Given the description of an element on the screen output the (x, y) to click on. 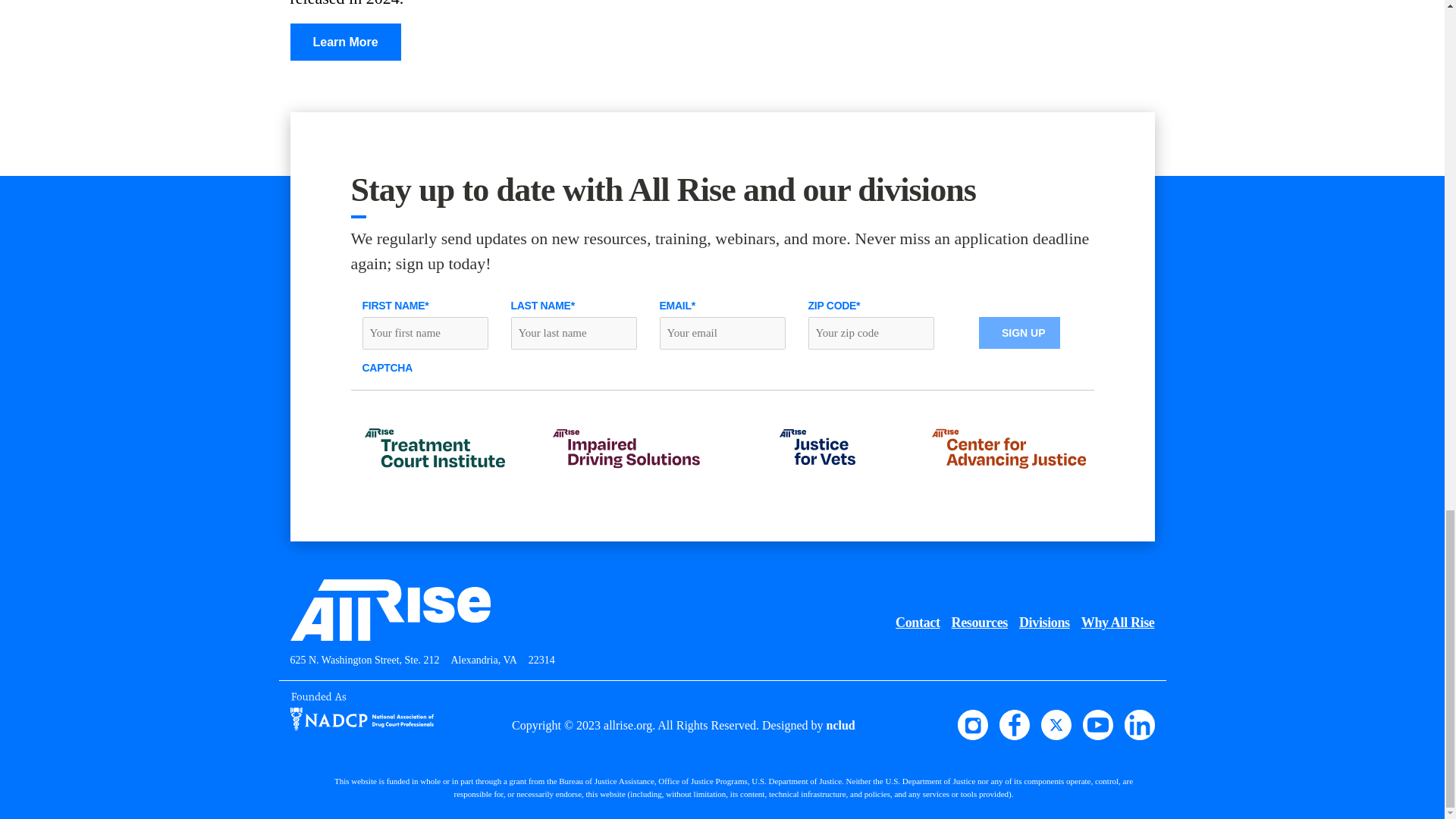
Treatment Court Institute (435, 447)
Justice for Vets (817, 447)
Center for Advancing Justice (1008, 448)
SIGN UP (1018, 332)
Impaired Driving Solutions (626, 448)
